Given the description of an element on the screen output the (x, y) to click on. 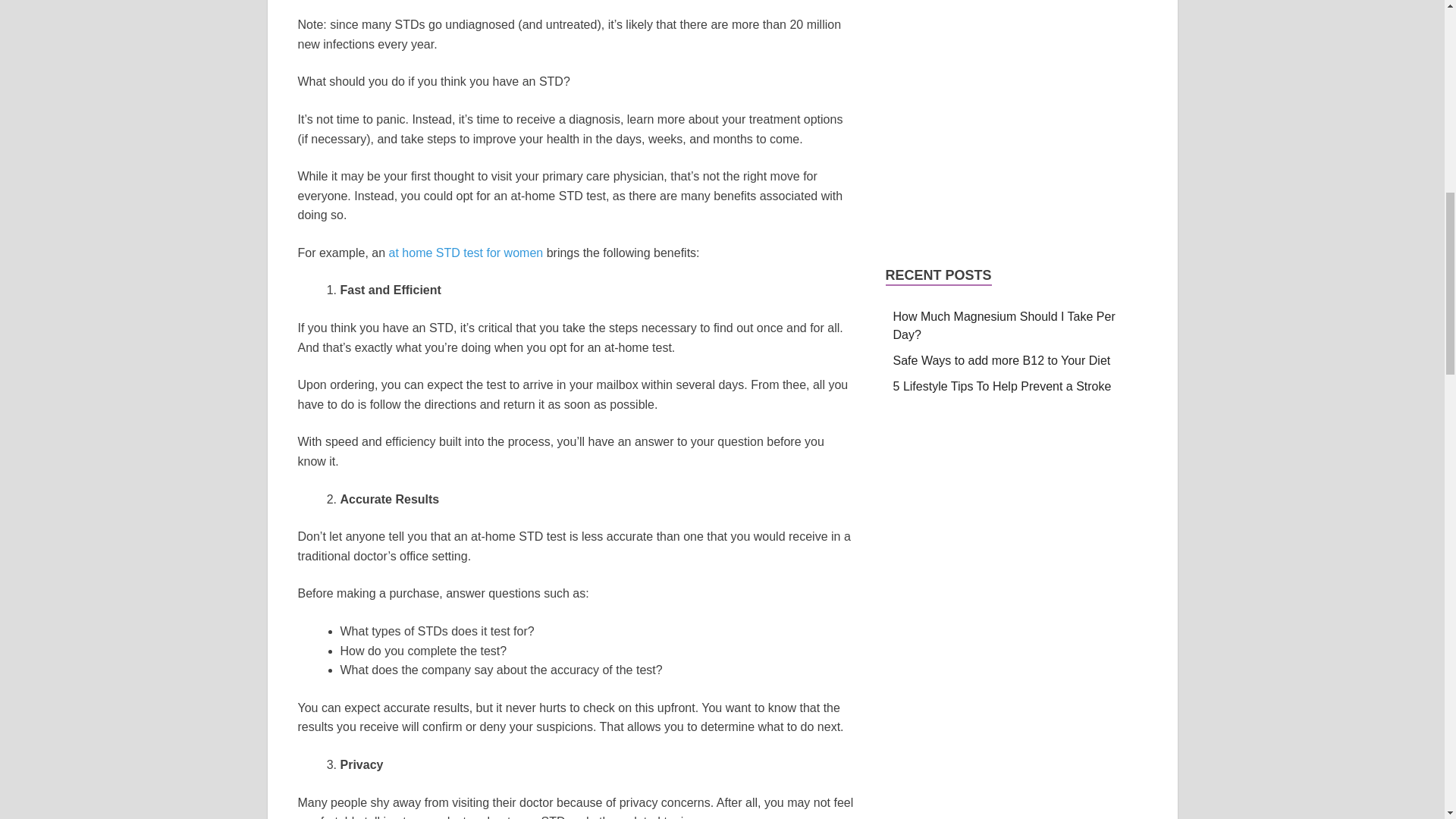
at home STD test for women (465, 252)
